Given the description of an element on the screen output the (x, y) to click on. 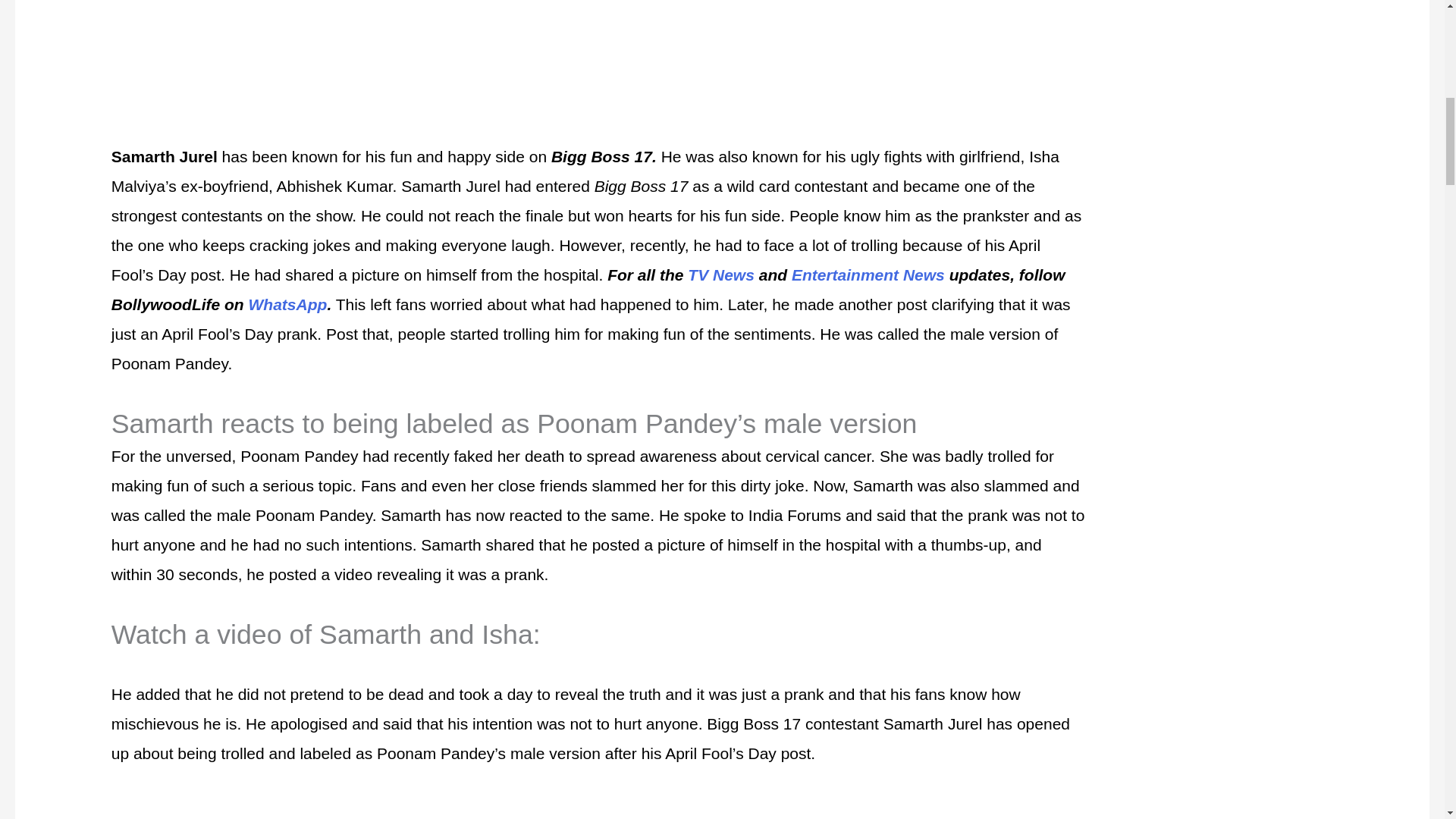
TV News (720, 274)
Entertainment News (868, 274)
WhatsApp (287, 303)
